Given the description of an element on the screen output the (x, y) to click on. 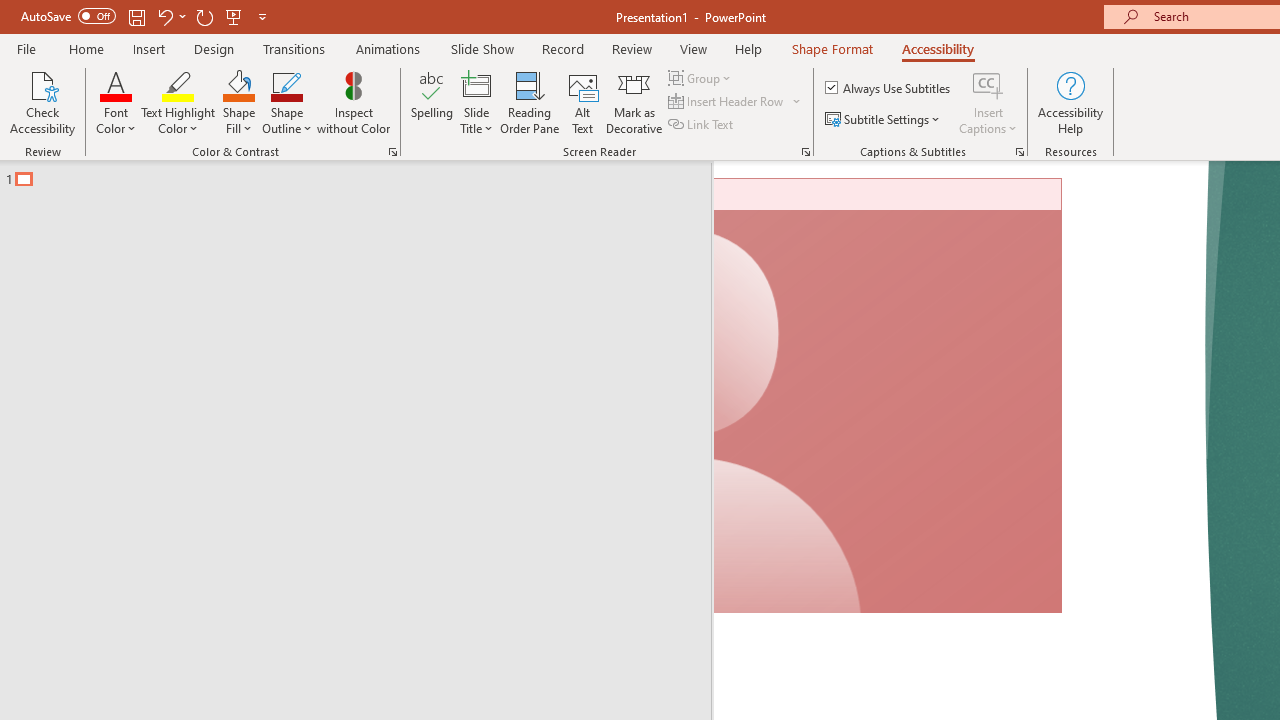
Insert Header Row (727, 101)
Shape Outline (286, 102)
Shape Fill Orange, Accent 2 (238, 84)
Insert Header Row (735, 101)
Shape Format (832, 48)
Mark as Decorative (634, 102)
Alt Text (582, 102)
Slide Title (476, 84)
Accessibility (937, 48)
More Options (988, 121)
Accessibility Help (1070, 102)
Check Accessibility (42, 102)
From Beginning (234, 15)
